Given the description of an element on the screen output the (x, y) to click on. 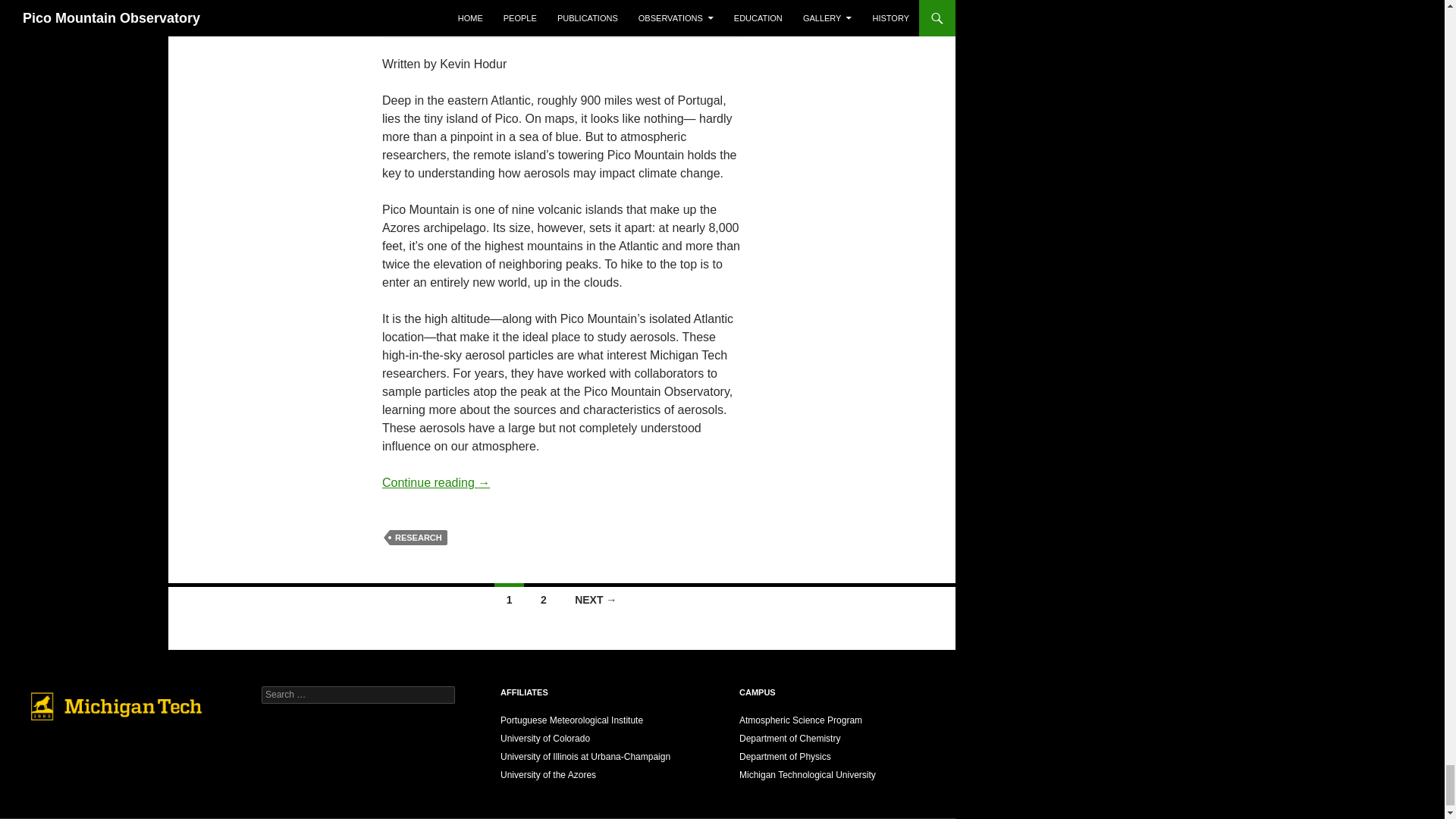
Department of Chemistry at Michigan Tech (789, 738)
Department of Physics at Michigan Tech (785, 756)
Michigan Tech (807, 774)
